Given the description of an element on the screen output the (x, y) to click on. 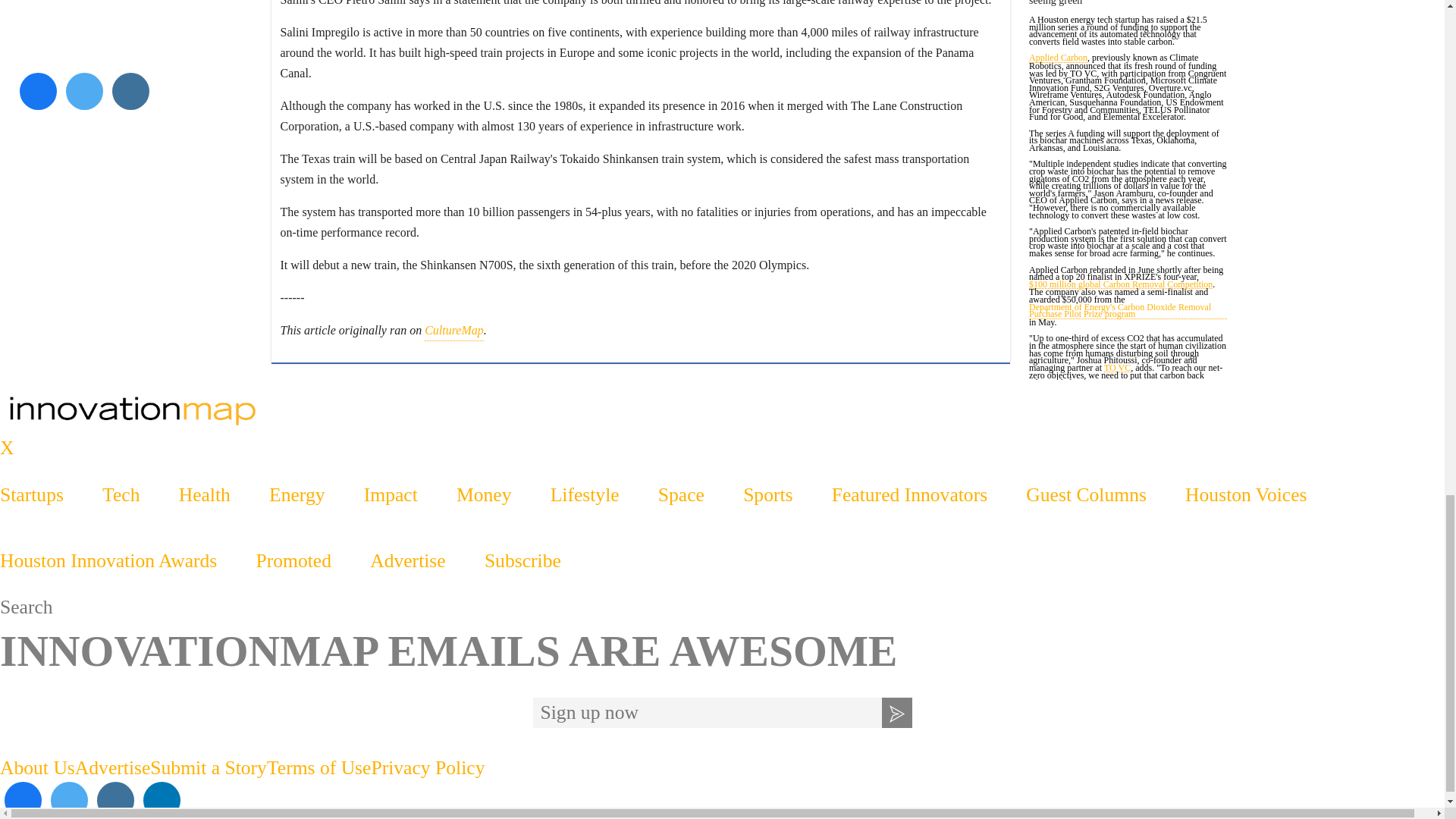
SportsMap Houston (722, 410)
TO VC (1117, 368)
Applied Carbon (1058, 58)
CultureMap (454, 330)
